Given the description of an element on the screen output the (x, y) to click on. 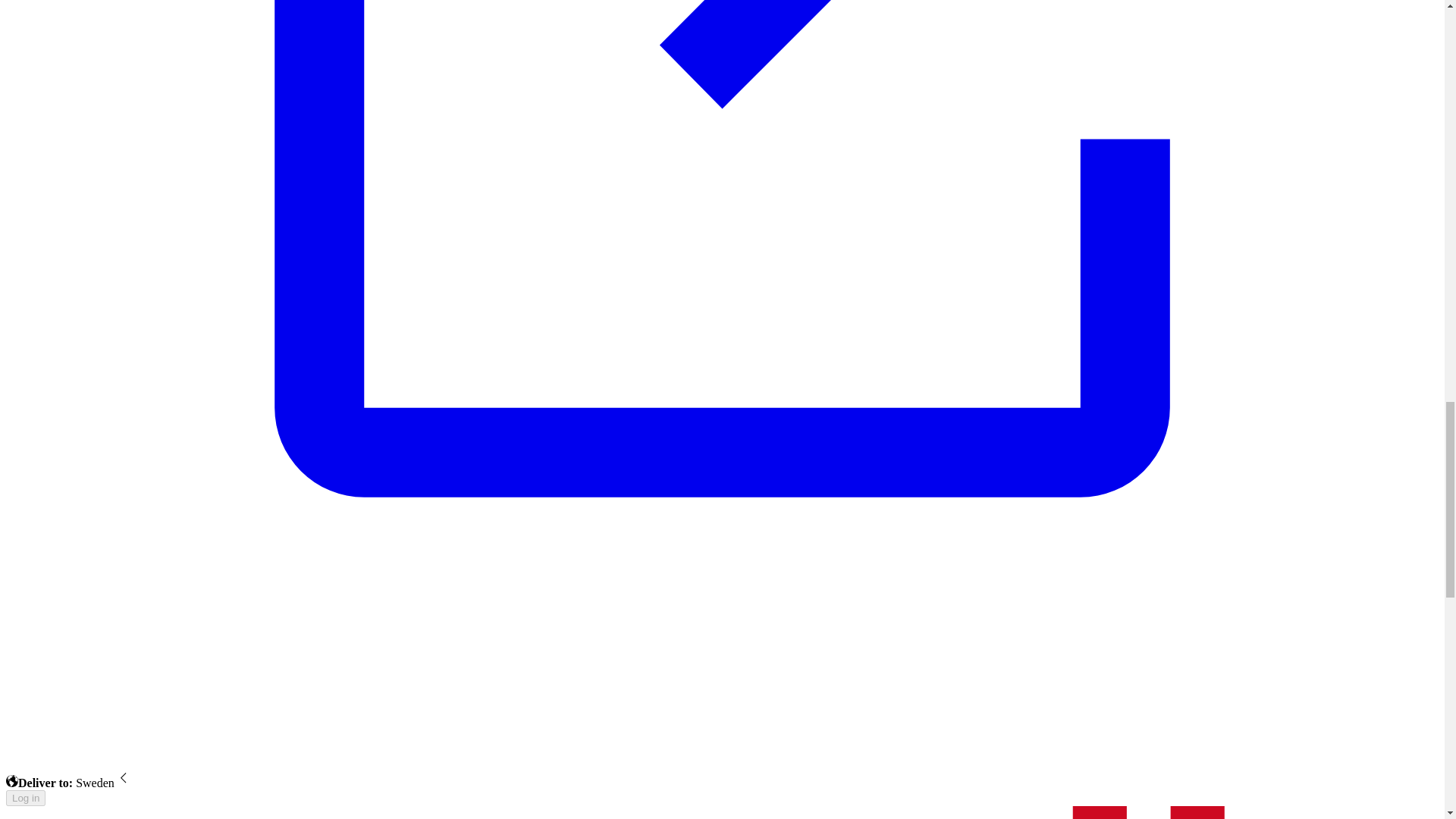
Log in (25, 797)
